Given the description of an element on the screen output the (x, y) to click on. 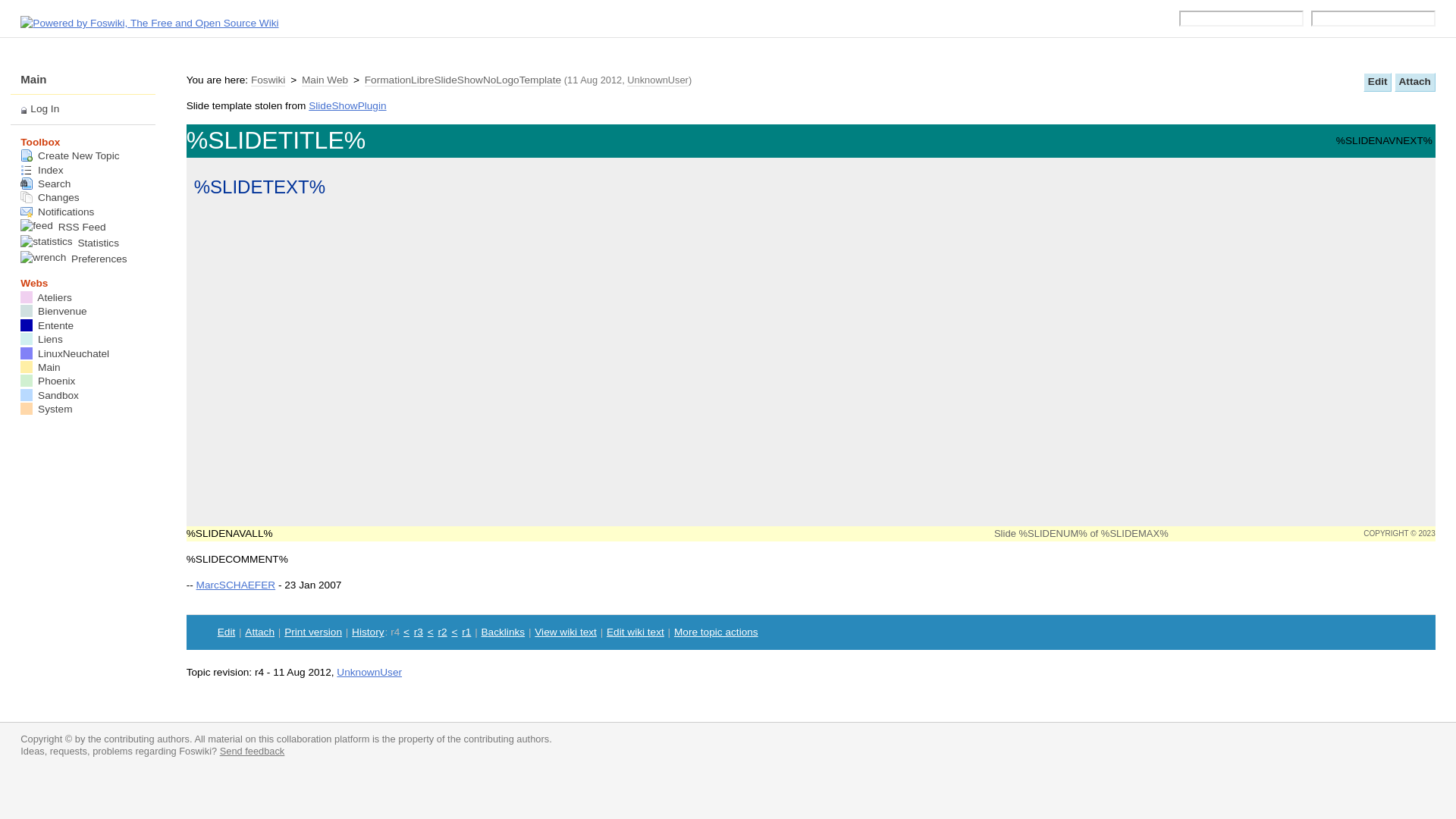
Attach Element type: text (1414, 81)
r3 Element type: text (418, 632)
Create New Topic Element type: text (69, 155)
 Main Element type: text (39, 367)
< Element type: text (406, 632)
 Entente Element type: text (46, 325)
 Bienvenue Element type: text (53, 310)
Statistics Element type: text (69, 243)
Notifications Element type: text (57, 211)
RSS Feed Element type: text (62, 227)
Print version Element type: text (312, 632)
History Element type: text (367, 632)
Main Web Element type: text (324, 80)
UnknownUser Element type: text (657, 80)
Edit Element type: text (226, 632)
< Element type: text (454, 632)
Search Element type: hover (1372, 18)
Foswiki Element type: text (268, 80)
Edit wiki text Element type: text (635, 632)
Preferences Element type: text (73, 258)
 System Element type: text (46, 408)
Search Element type: text (45, 183)
SlideShowPlugin Element type: text (346, 105)
Log In Element type: text (44, 108)
 Sandbox Element type: text (49, 395)
More topic actions Element type: text (716, 632)
Index Element type: text (41, 169)
Jump Element type: hover (1240, 18)
FormationLibreSlideShowNoLogoTemplate Element type: text (462, 80)
UnknownUser Element type: text (368, 671)
 Phoenix Element type: text (47, 380)
Attach Element type: text (259, 632)
View wiki text Element type: text (565, 632)
r2 Element type: text (442, 632)
Changes Element type: text (49, 197)
 Liens Element type: text (41, 339)
Backlinks Element type: text (503, 632)
MarcSCHAEFER Element type: text (236, 584)
 LinuxNeuchatel Element type: text (64, 353)
 Ateliers Element type: text (46, 297)
r1 Element type: text (466, 632)
< Element type: text (430, 632)
Edit Element type: text (1377, 81)
Main Element type: text (33, 78)
Send feedback Element type: text (252, 750)
